Given the description of an element on the screen output the (x, y) to click on. 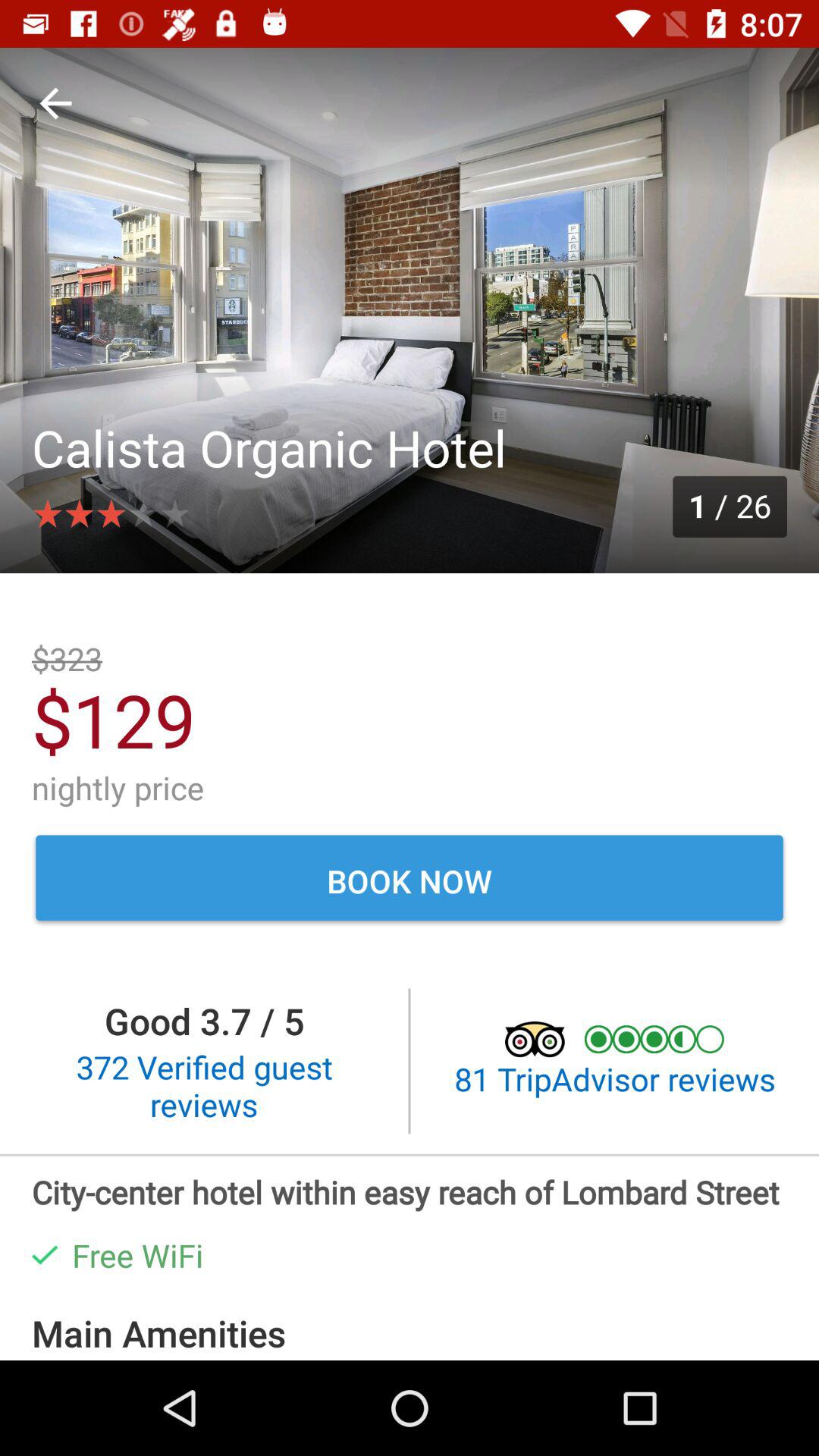
choose the book now (409, 880)
